Given the description of an element on the screen output the (x, y) to click on. 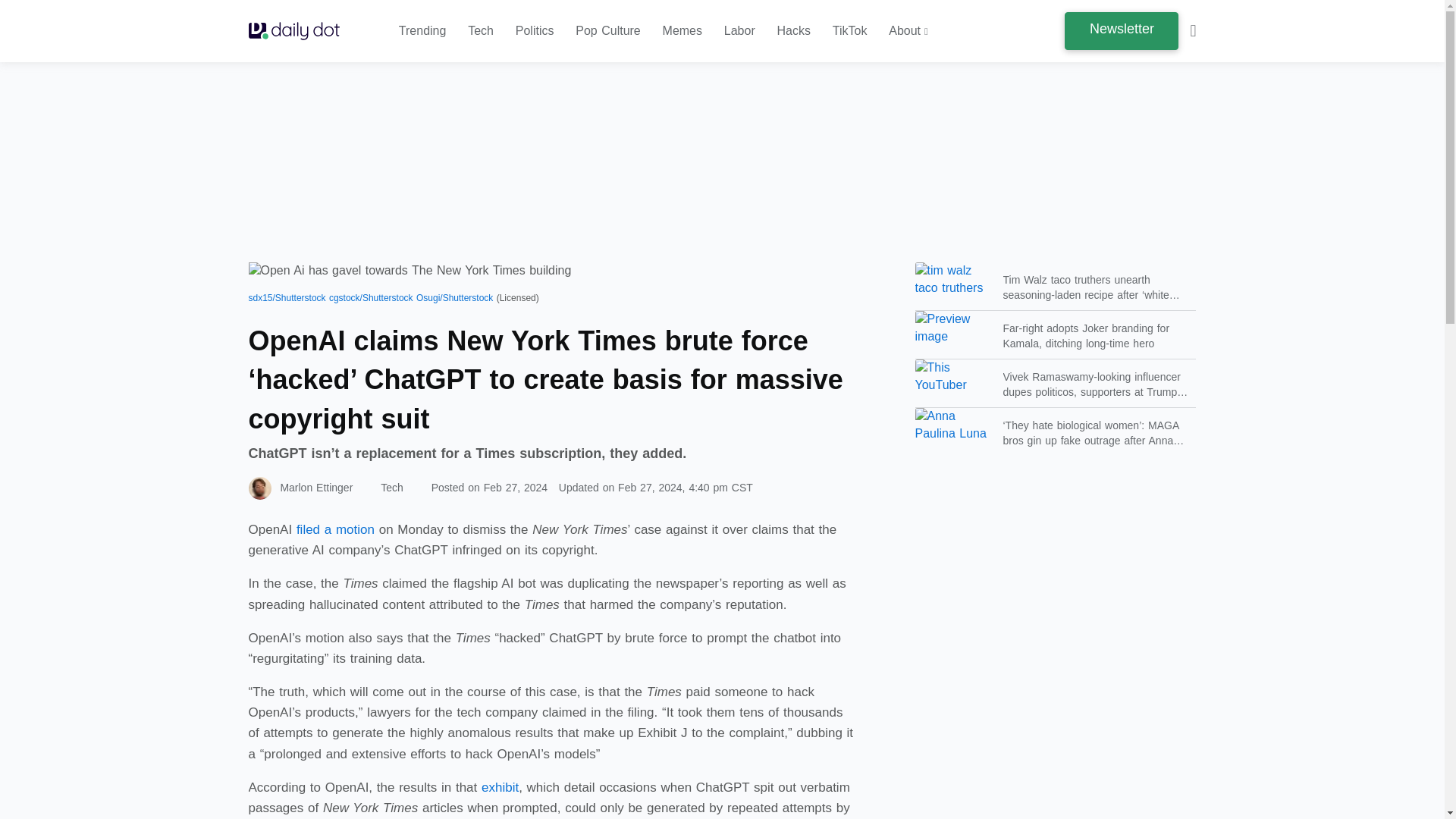
Newsletter (1120, 30)
Politics (534, 31)
Memes (681, 31)
Trending (422, 31)
Tech (480, 31)
Labor (739, 31)
Pop Culture (607, 31)
About (908, 31)
Hacks (793, 31)
TikTok (849, 31)
